Given the description of an element on the screen output the (x, y) to click on. 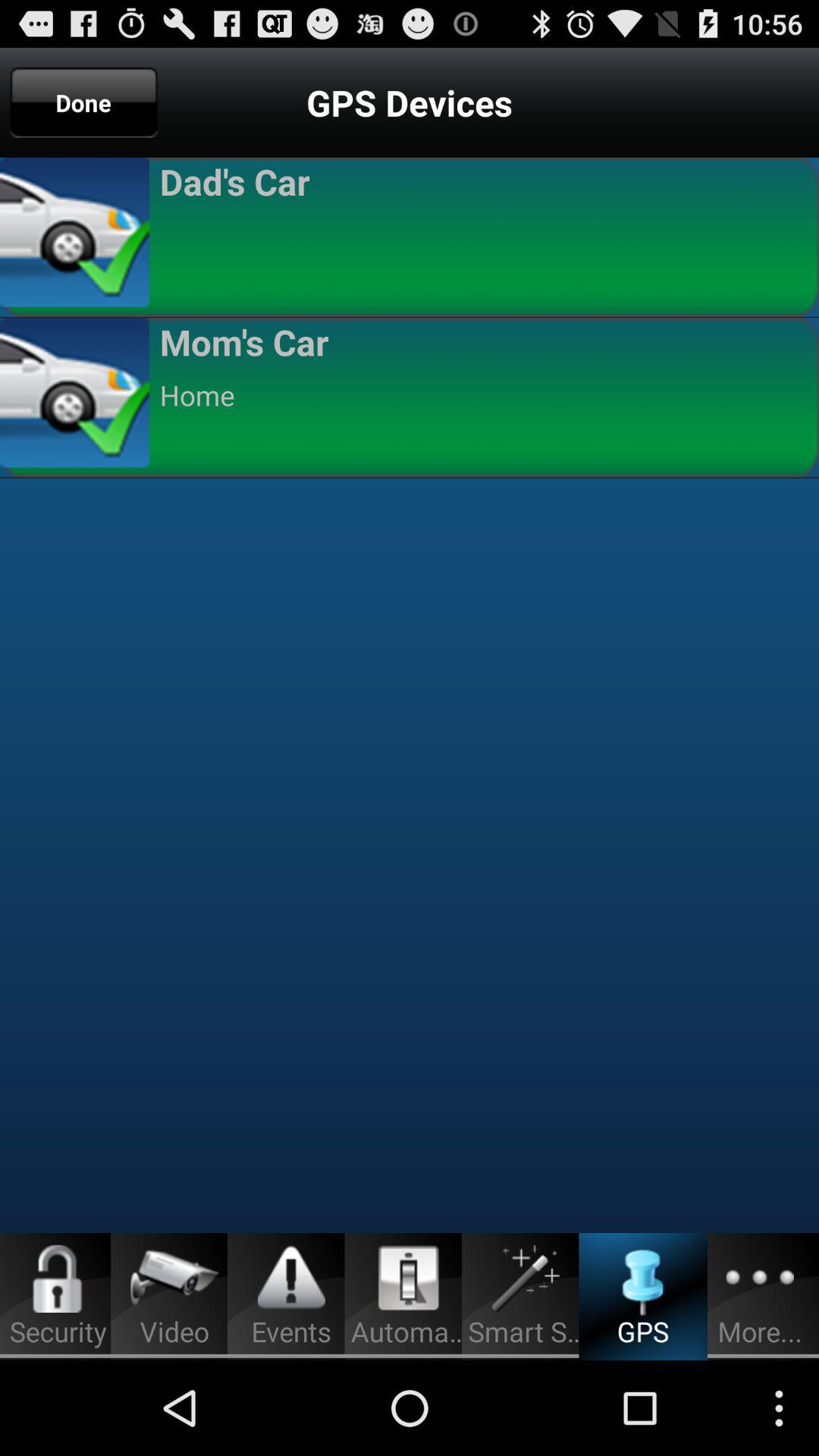
select the app to the left of the gps devices item (83, 102)
